Given the description of an element on the screen output the (x, y) to click on. 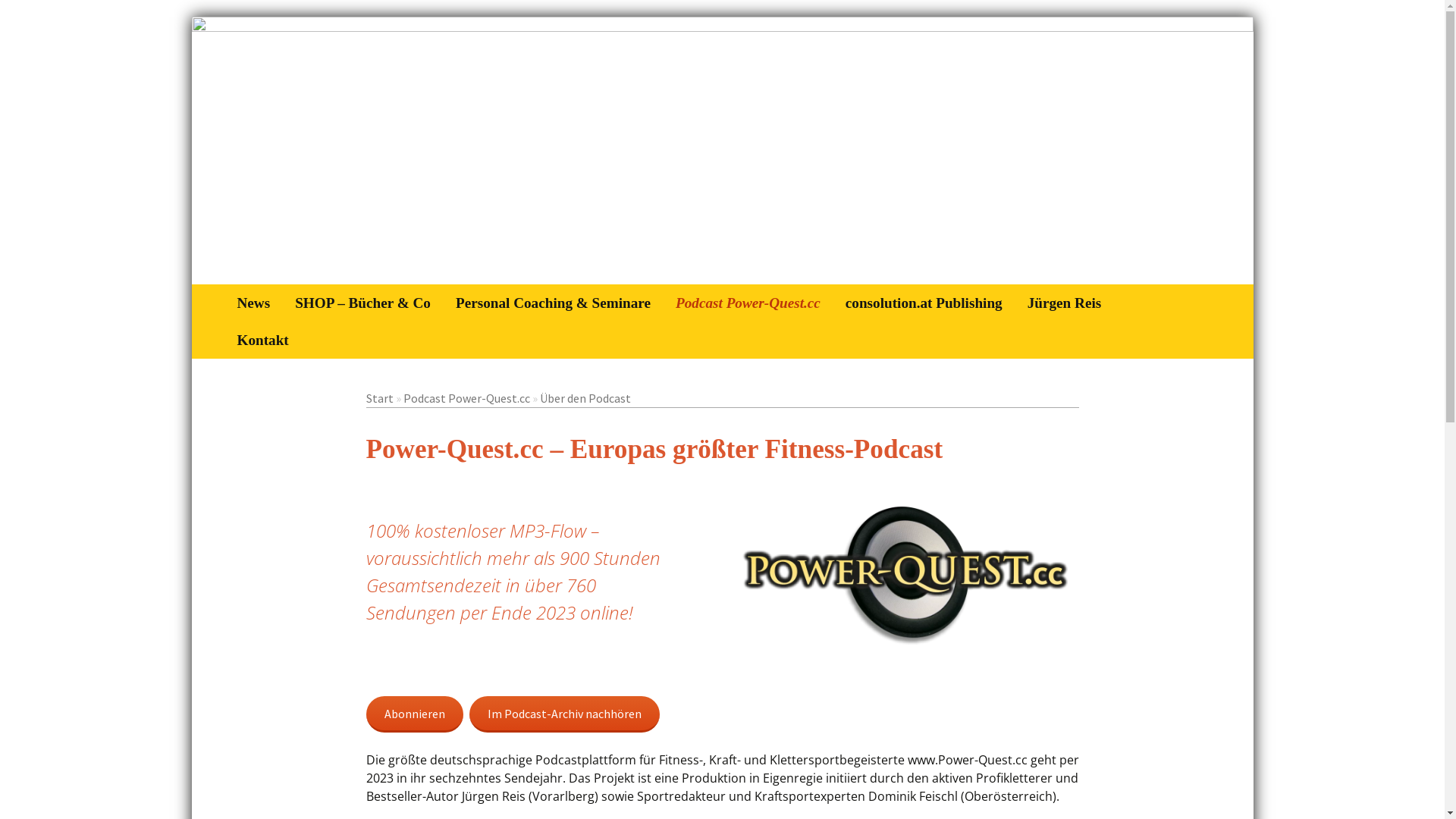
Abonnieren Element type: text (413, 714)
Suche Element type: text (18, 16)
Podcast Power-Quest.cc Element type: text (466, 397)
consolution.at Publishing Element type: text (923, 302)
Kontakt Element type: text (262, 339)
News Element type: text (253, 302)
Podcast Power-Quest.cc Element type: text (747, 302)
Personal Coaching & Seminare Element type: text (553, 302)
Zum Inhalt springen Element type: text (224, 283)
Start Element type: text (378, 397)
